Given the description of an element on the screen output the (x, y) to click on. 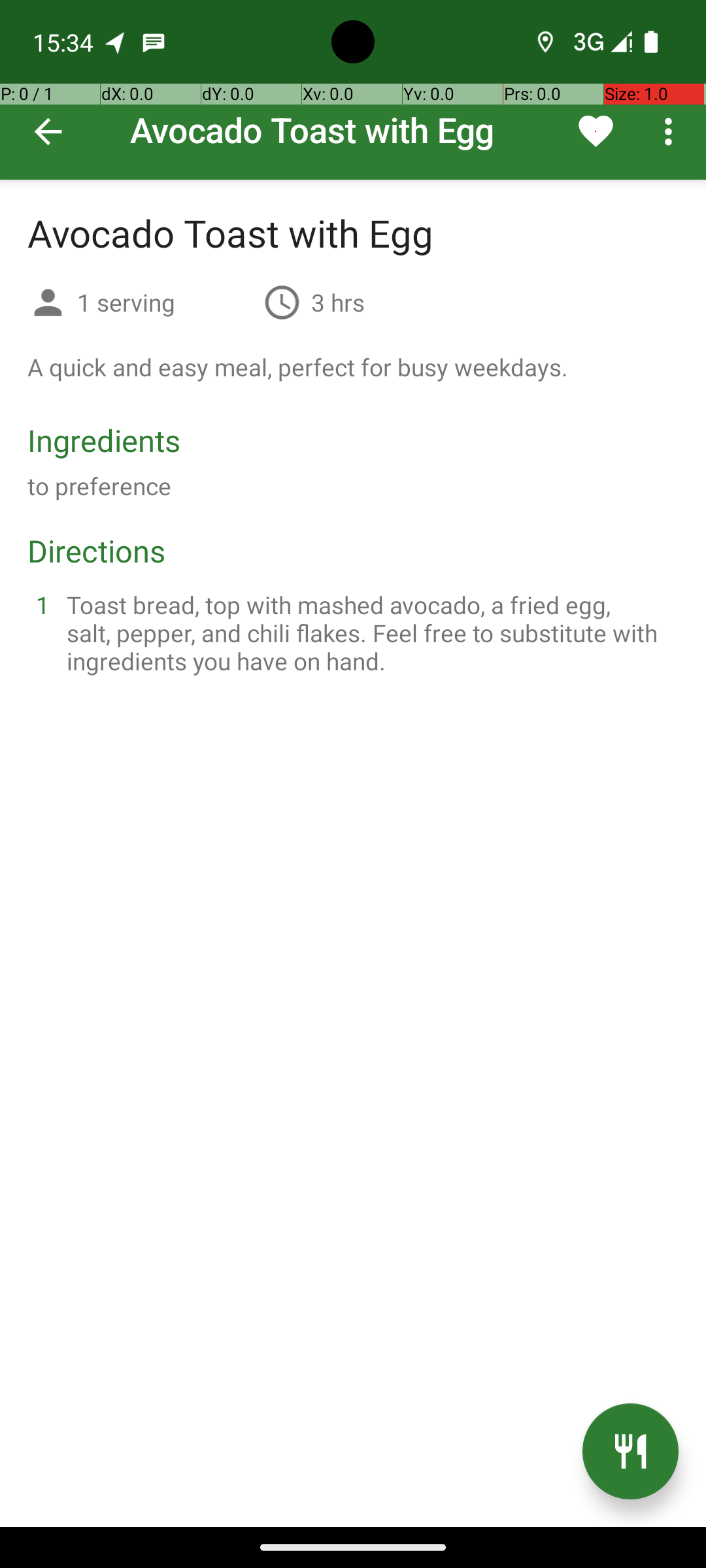
Avocado Toast with Egg Element type: android.widget.FrameLayout (353, 89)
Remove from favorites Element type: android.widget.Button (595, 131)
1 serving Element type: android.widget.TextView (164, 301)
3 hrs Element type: android.widget.TextView (337, 301)
to preference Element type: android.widget.TextView (99, 485)
Toast bread, top with mashed avocado, a fried egg, salt, pepper, and chili flakes. Feel free to substitute with ingredients you have on hand. Element type: android.widget.TextView (368, 632)
